Given the description of an element on the screen output the (x, y) to click on. 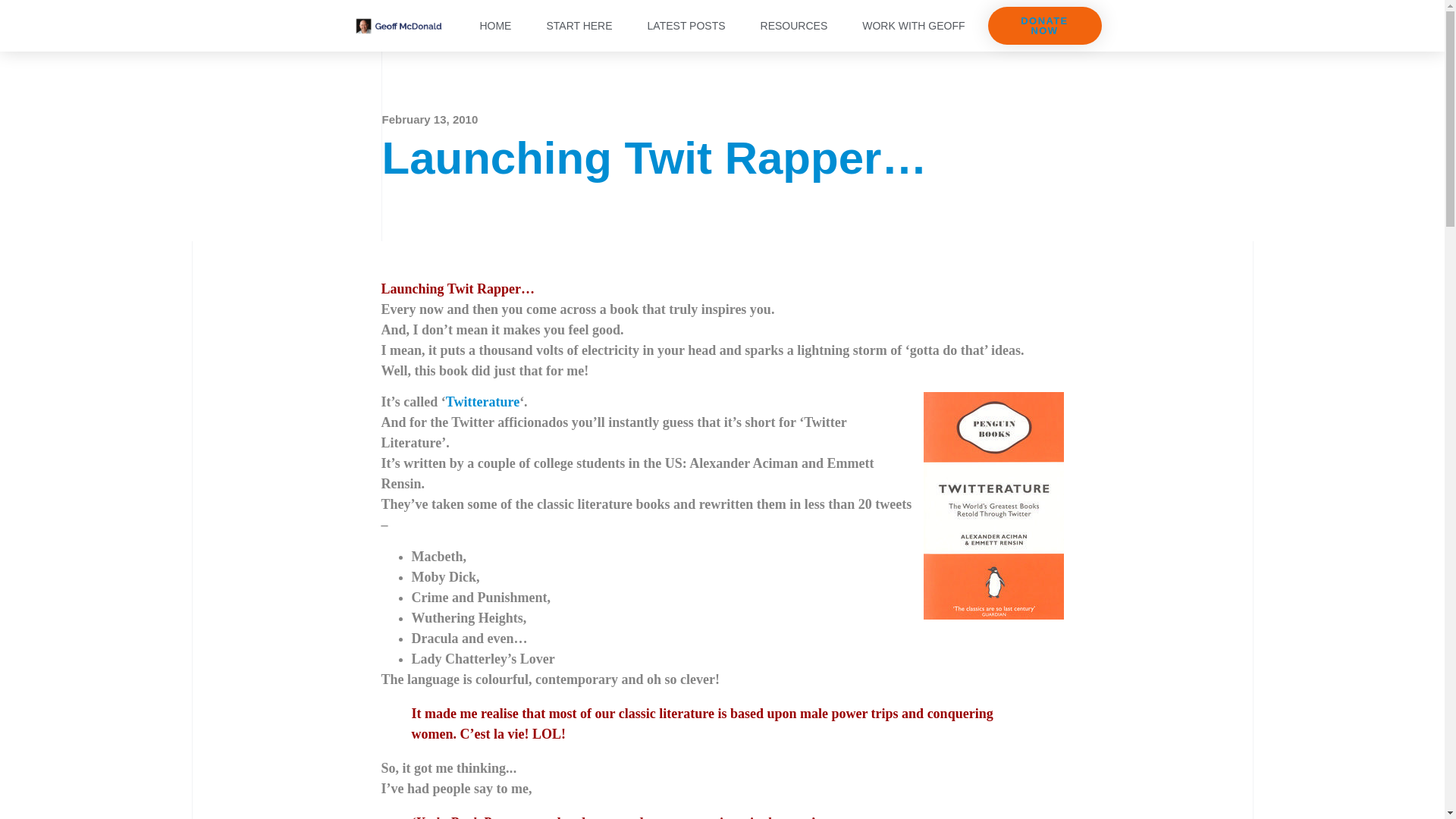
START HERE (579, 25)
Twitterature (482, 401)
LATEST POSTS (686, 25)
February 13, 2010 (430, 119)
RESOURCES (794, 25)
DONATE NOW (1043, 25)
HOME (494, 25)
WORK WITH GEOFF (913, 25)
